Given the description of an element on the screen output the (x, y) to click on. 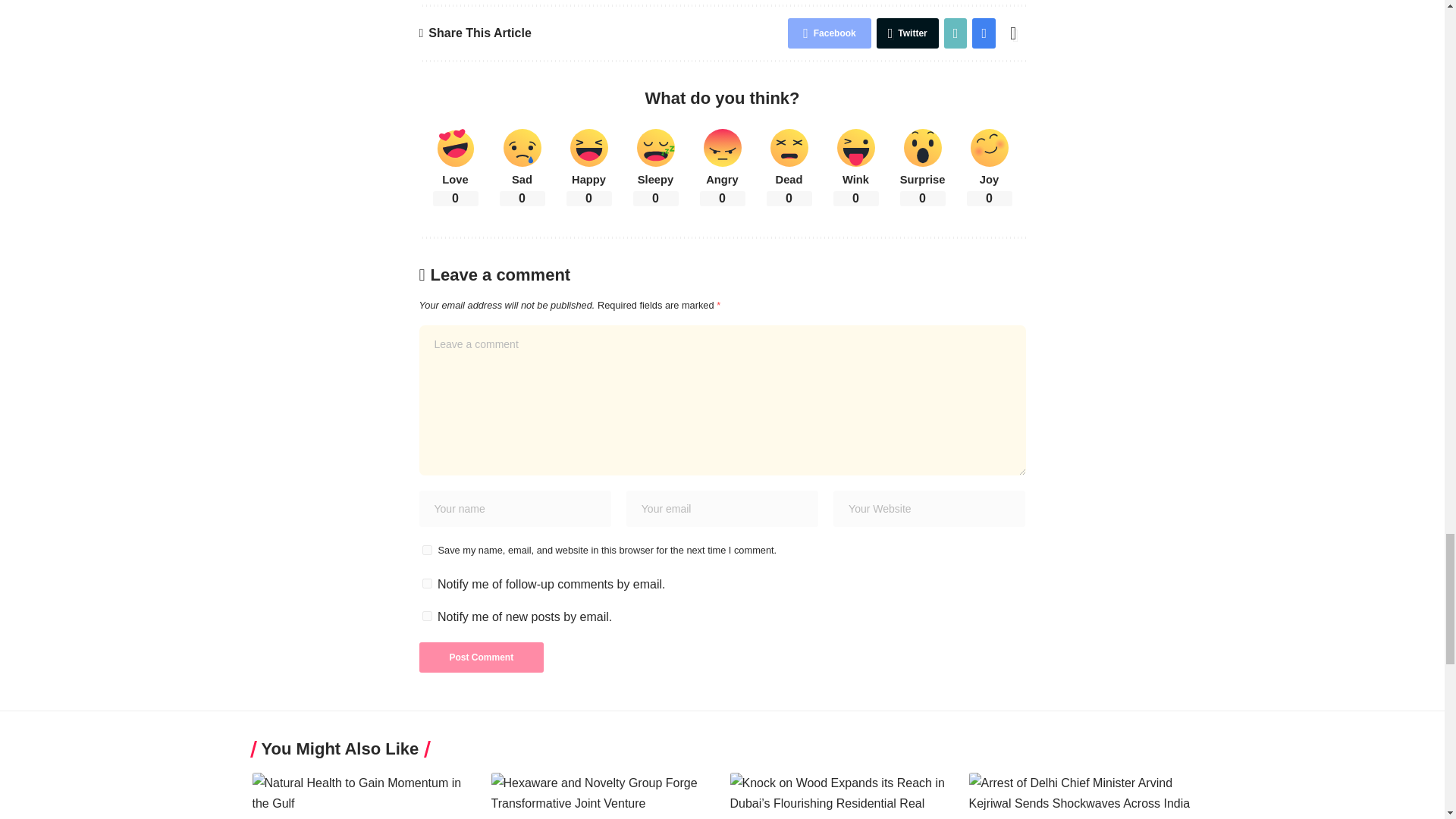
Post Comment (481, 657)
subscribe (426, 583)
subscribe (426, 615)
yes (426, 550)
Natural Health to Gain Momentum in the Gulf (363, 796)
